Given the description of an element on the screen output the (x, y) to click on. 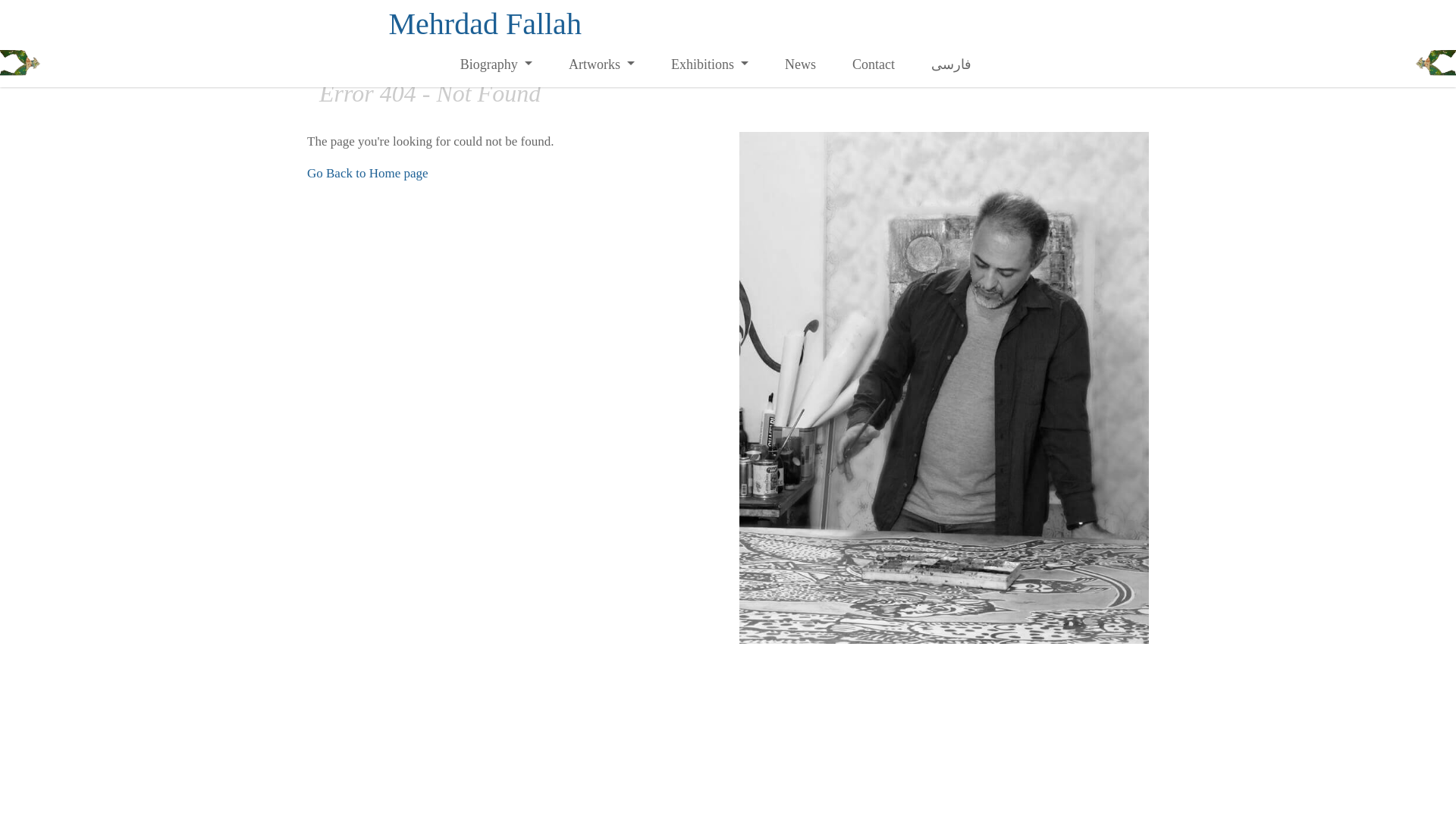
Biography (496, 64)
News (800, 64)
Mehrdad Fallah (484, 23)
Mehrdad Fallah Contemprary Artist (484, 23)
Artworks (601, 64)
Contact (873, 64)
Go Back to Home page (367, 173)
Exhibitions (709, 64)
